Given the description of an element on the screen output the (x, y) to click on. 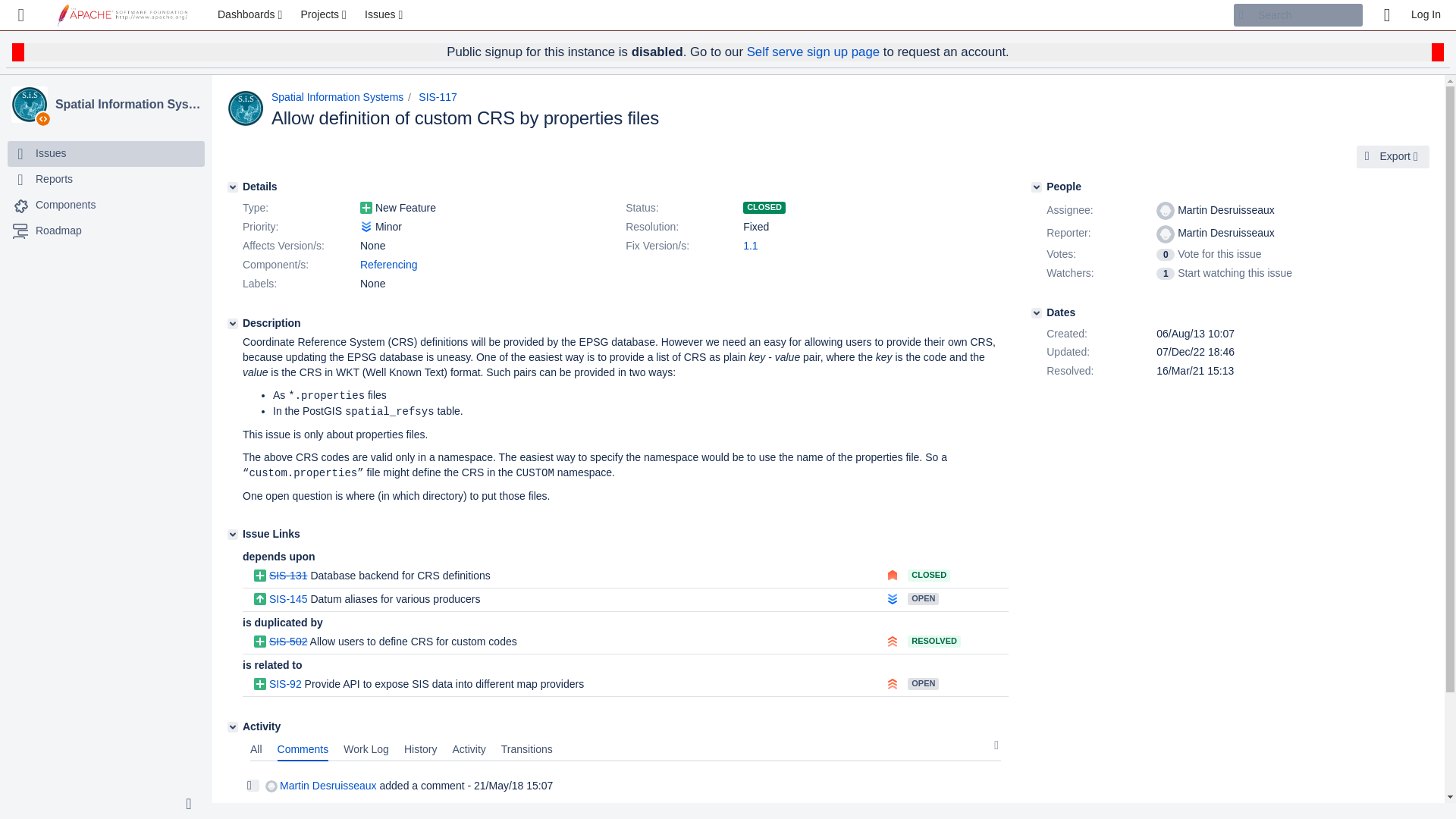
Issues (384, 15)
Help (1386, 15)
Export (1392, 156)
Spatial Information Systems (29, 104)
Spatial Information Systems (127, 104)
Spatial Information Systems (127, 104)
Components (65, 205)
Reports (53, 179)
SIS-117 (438, 96)
Issues (49, 153)
